Given the description of an element on the screen output the (x, y) to click on. 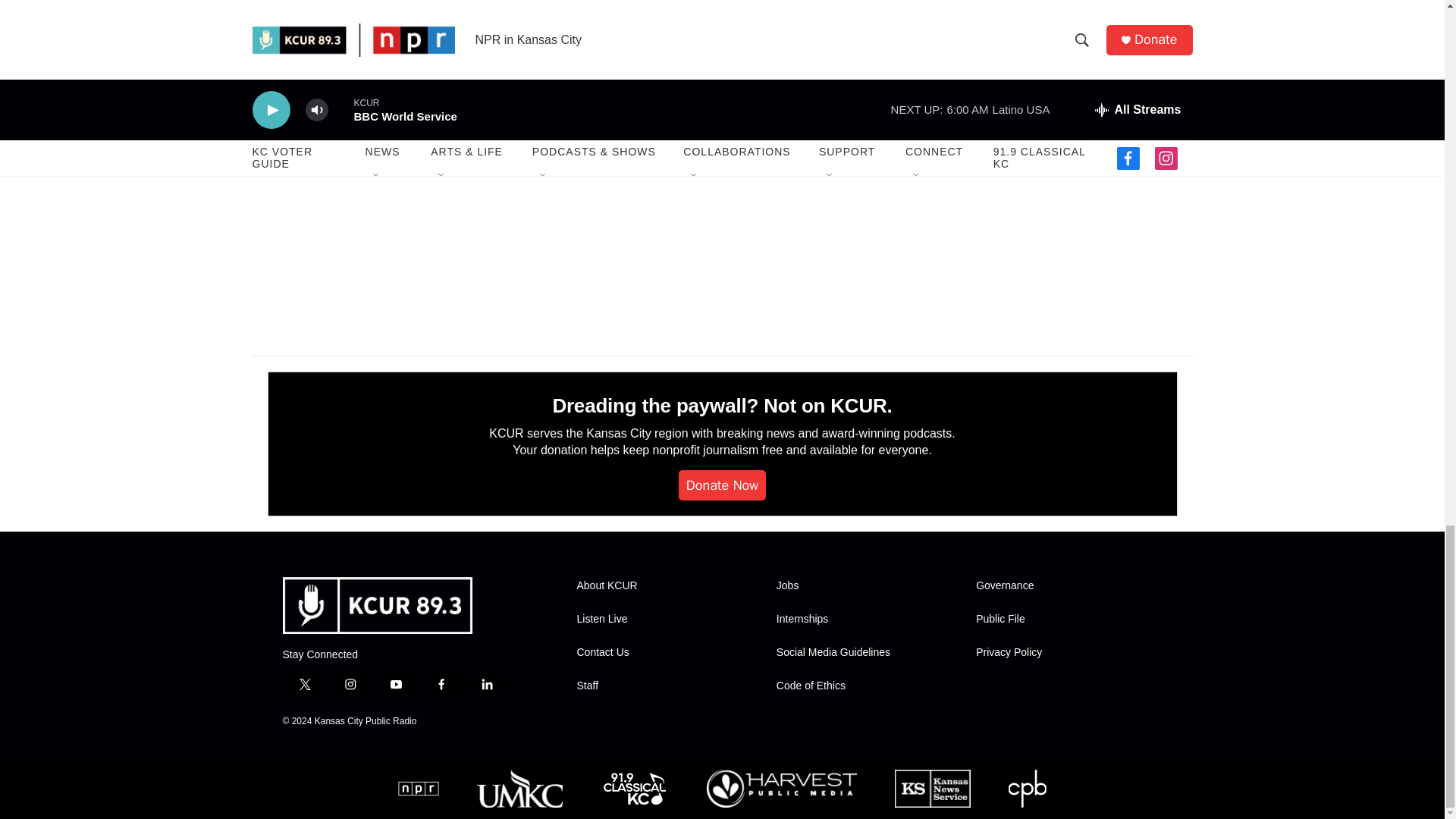
3rd party ad content (1062, 199)
